Given the description of an element on the screen output the (x, y) to click on. 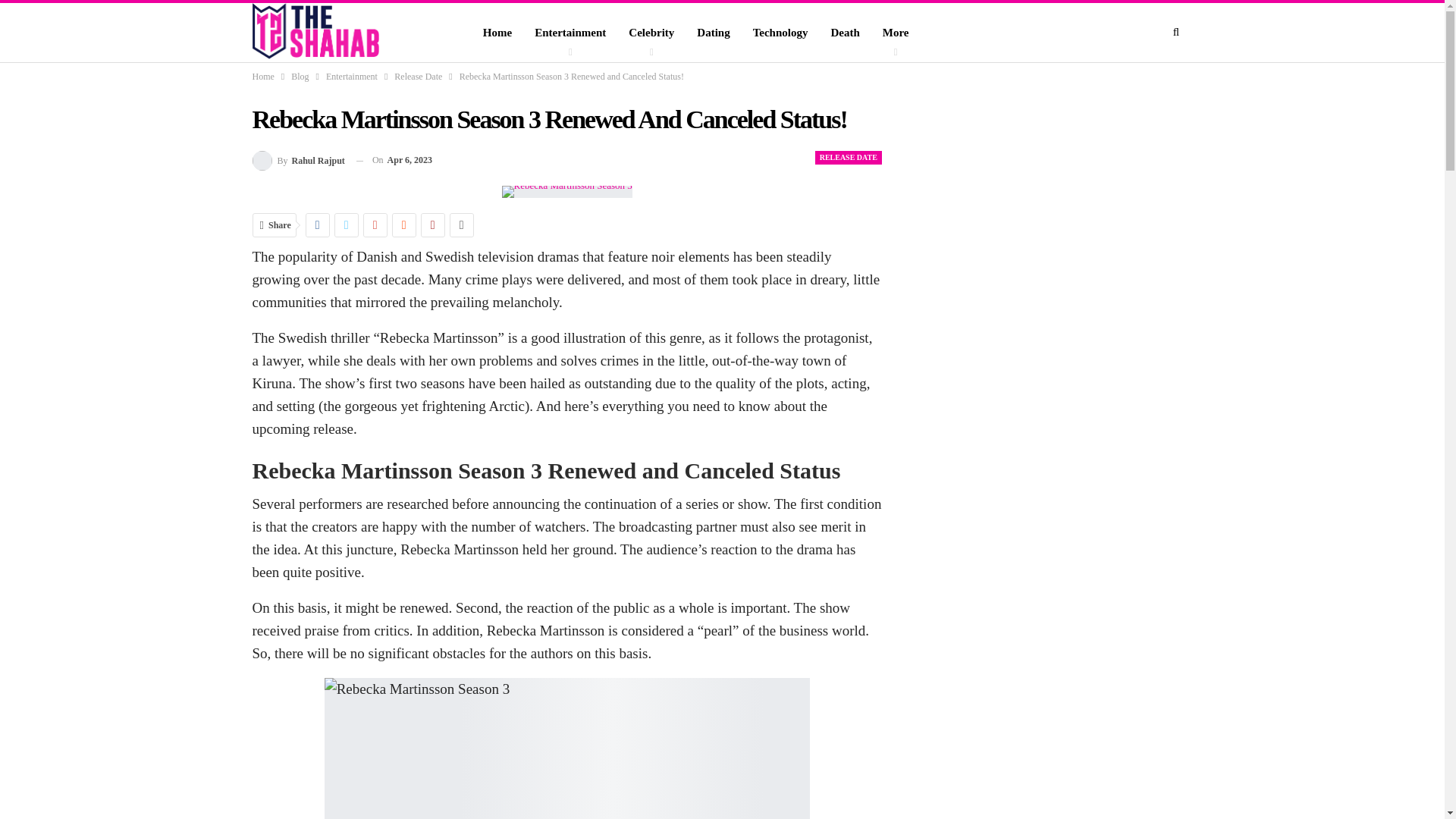
Entertainment (351, 76)
Technology (780, 32)
RELEASE DATE (848, 157)
Celebrity (651, 32)
Entertainment (569, 32)
Dating (713, 32)
Home (262, 76)
By Rahul Rajput (297, 159)
Release Date (418, 76)
Browse Author Articles (297, 159)
